Given the description of an element on the screen output the (x, y) to click on. 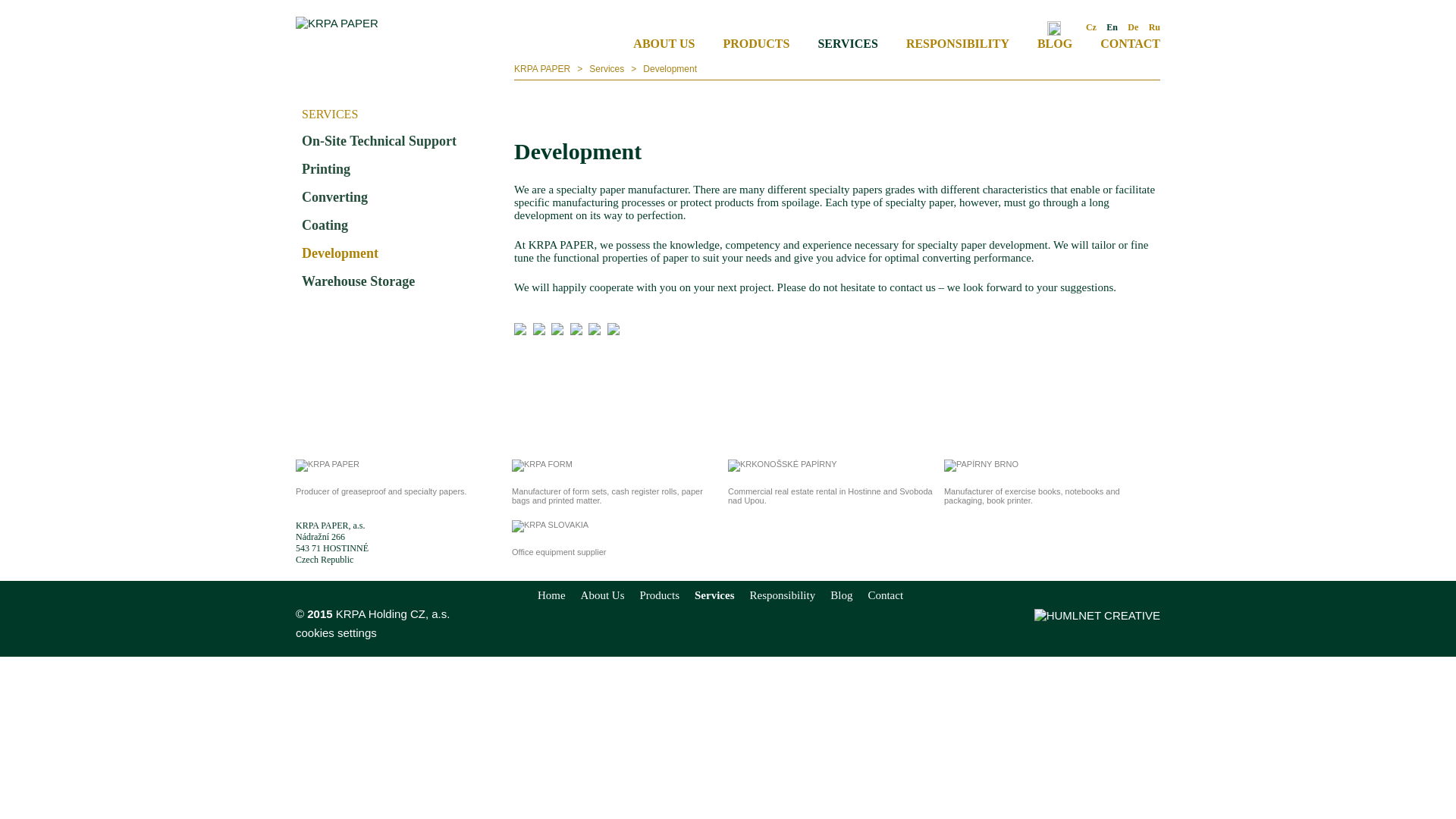
Services (606, 68)
Products (659, 594)
CONTACT (1130, 42)
Coating (398, 225)
On-Site Technical Support (398, 141)
Services (713, 594)
Responsibility (782, 594)
Converting (398, 197)
ABOUT US (663, 42)
Paper under the microscope (576, 328)
